Given the description of an element on the screen output the (x, y) to click on. 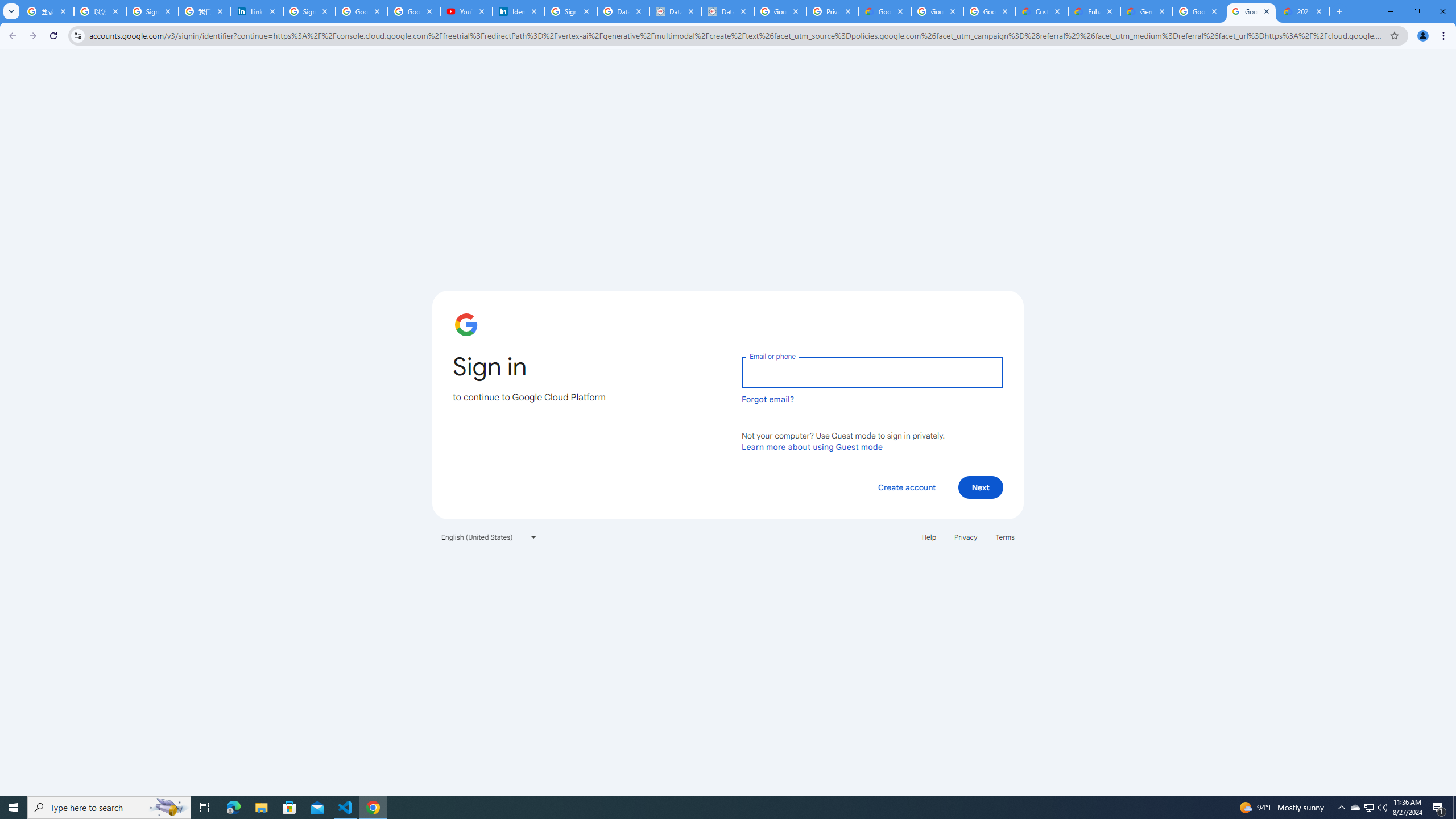
English (United States) (489, 536)
Google Cloud Platform (1198, 11)
Help (928, 536)
Google Cloud Terms Directory | Google Cloud (884, 11)
Next (980, 486)
Sign in - Google Accounts (309, 11)
Enhanced Support | Google Cloud (1093, 11)
Gemini for Business and Developers | Google Cloud (1146, 11)
Sign in - Google Accounts (151, 11)
